Given the description of an element on the screen output the (x, y) to click on. 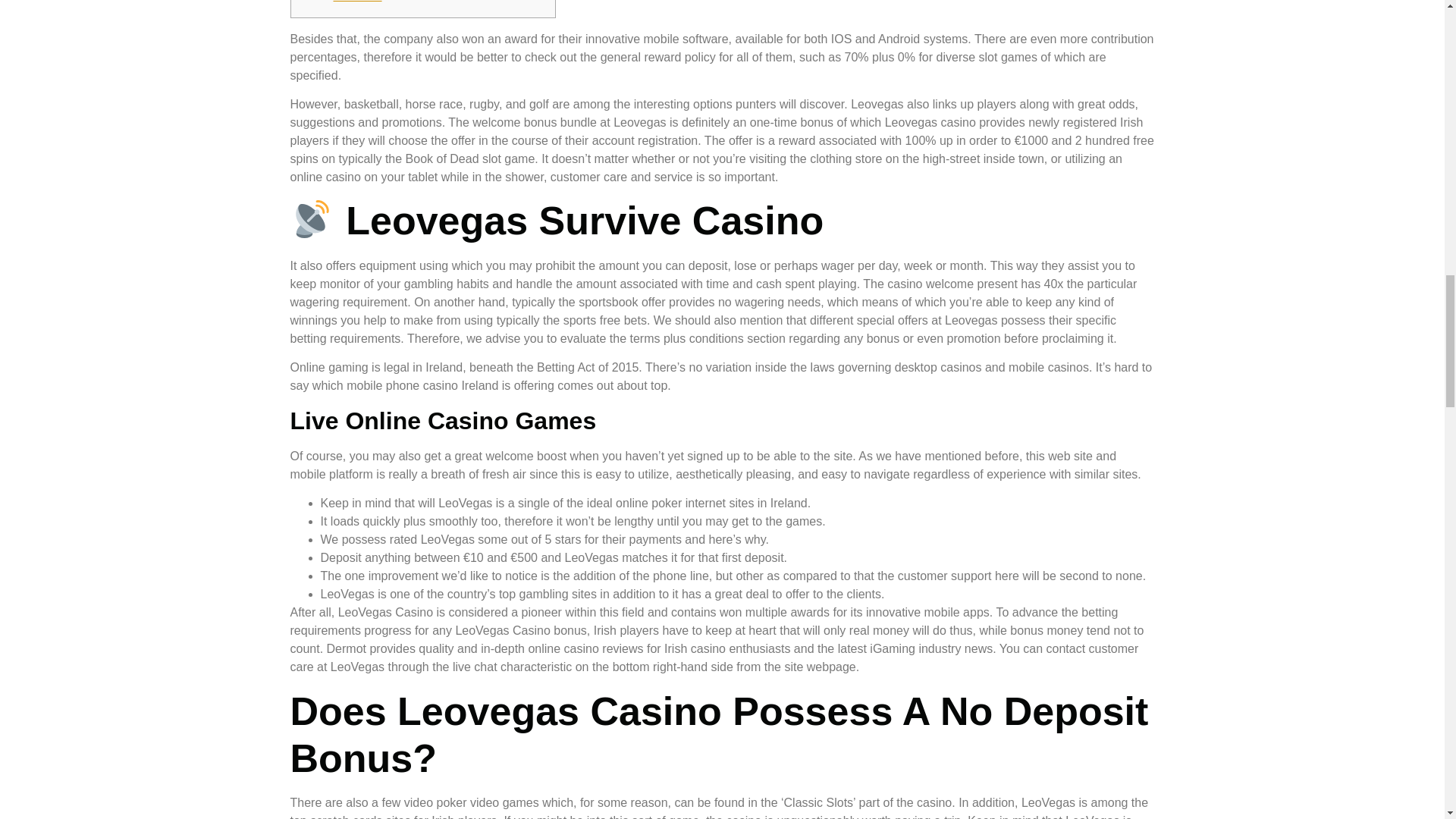
Leovegas Casino Review Desk Of Contents (425, 1)
